Given the description of an element on the screen output the (x, y) to click on. 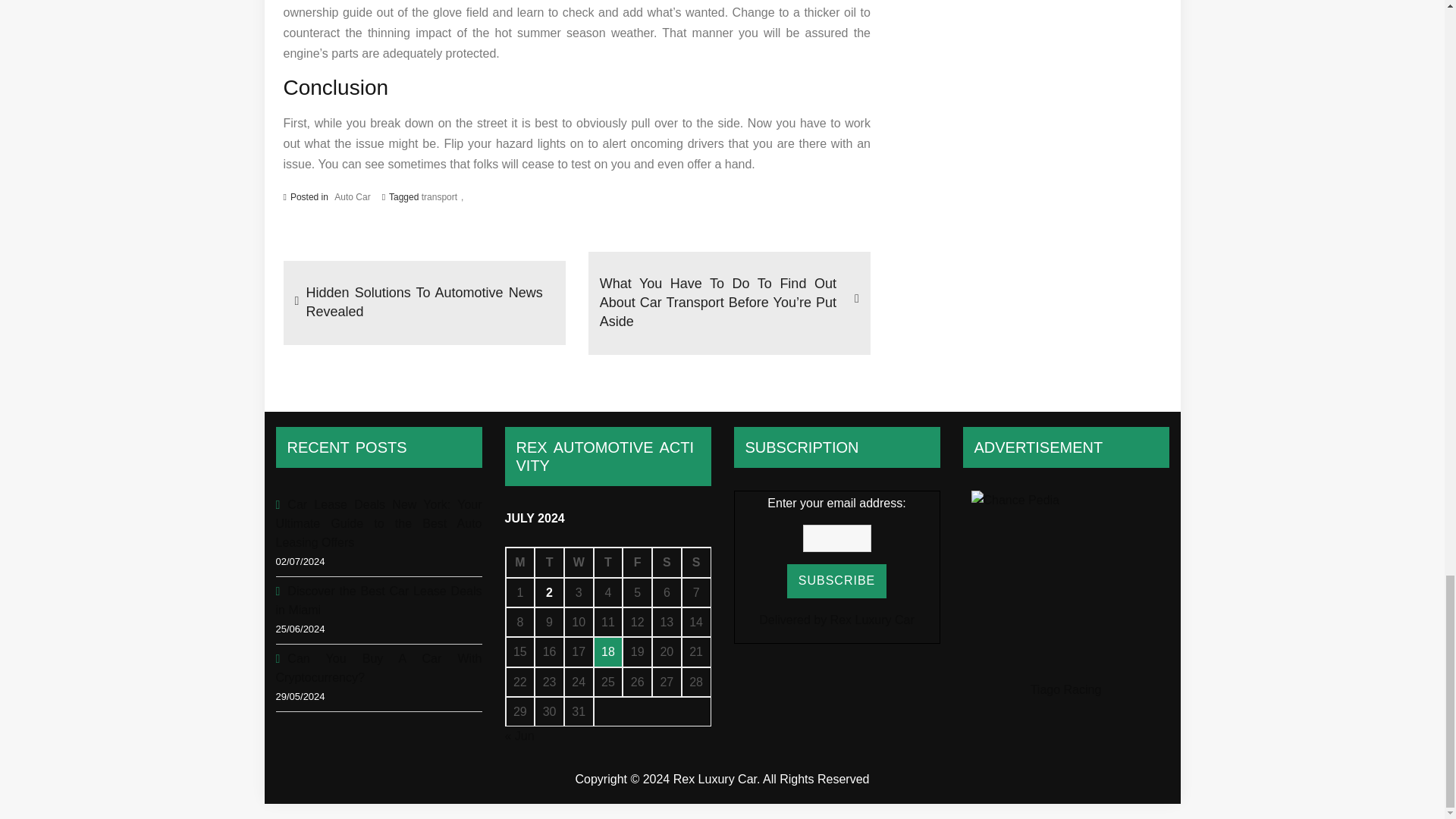
Sunday (696, 562)
Friday (637, 562)
Thursday (608, 562)
Saturday (666, 562)
Tuesday (549, 562)
Chance Pedia (1065, 585)
Subscribe (836, 581)
Wednesday (579, 562)
Monday (519, 562)
